Given the description of an element on the screen output the (x, y) to click on. 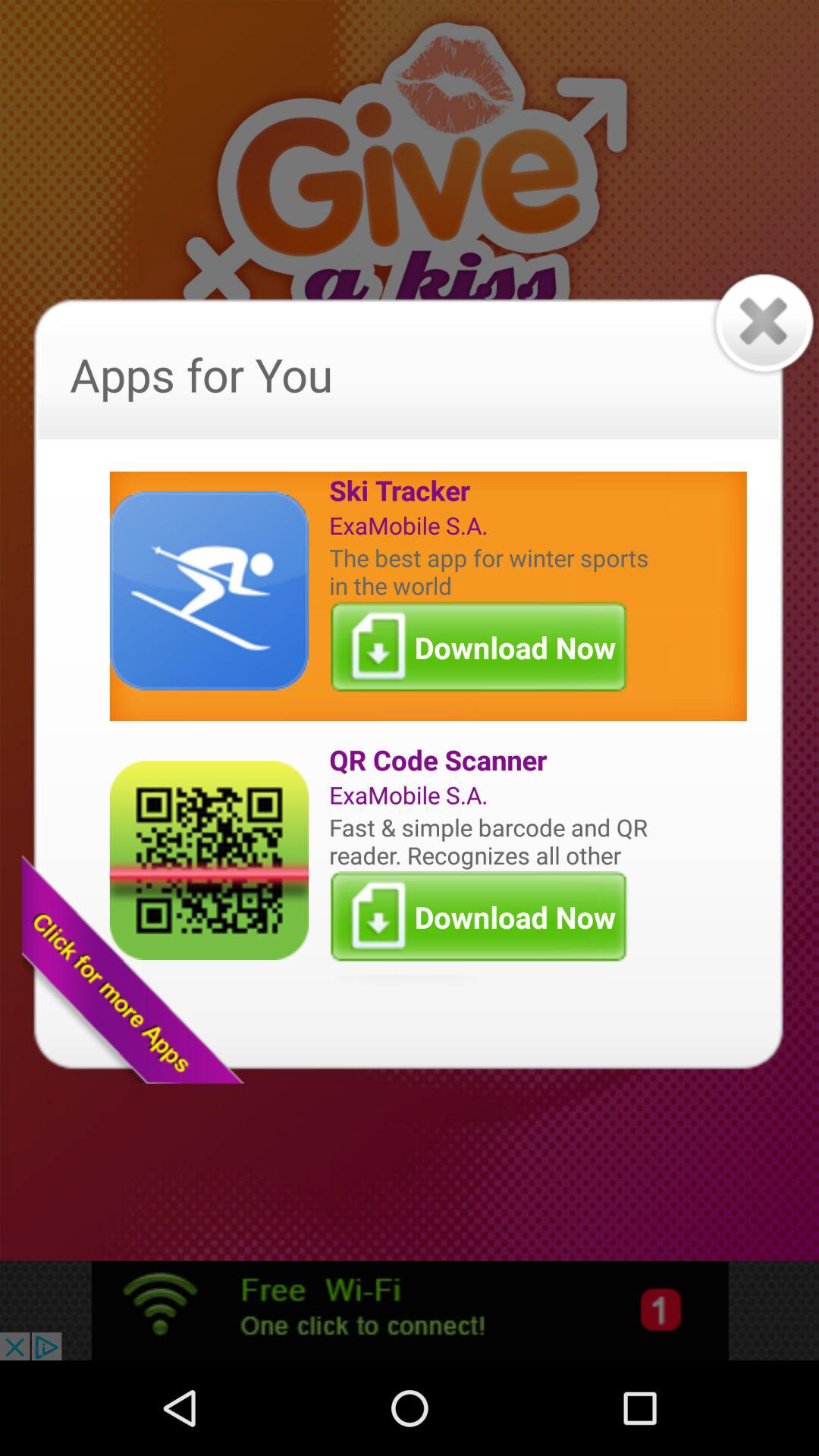
open item above download now icon (492, 571)
